Given the description of an element on the screen output the (x, y) to click on. 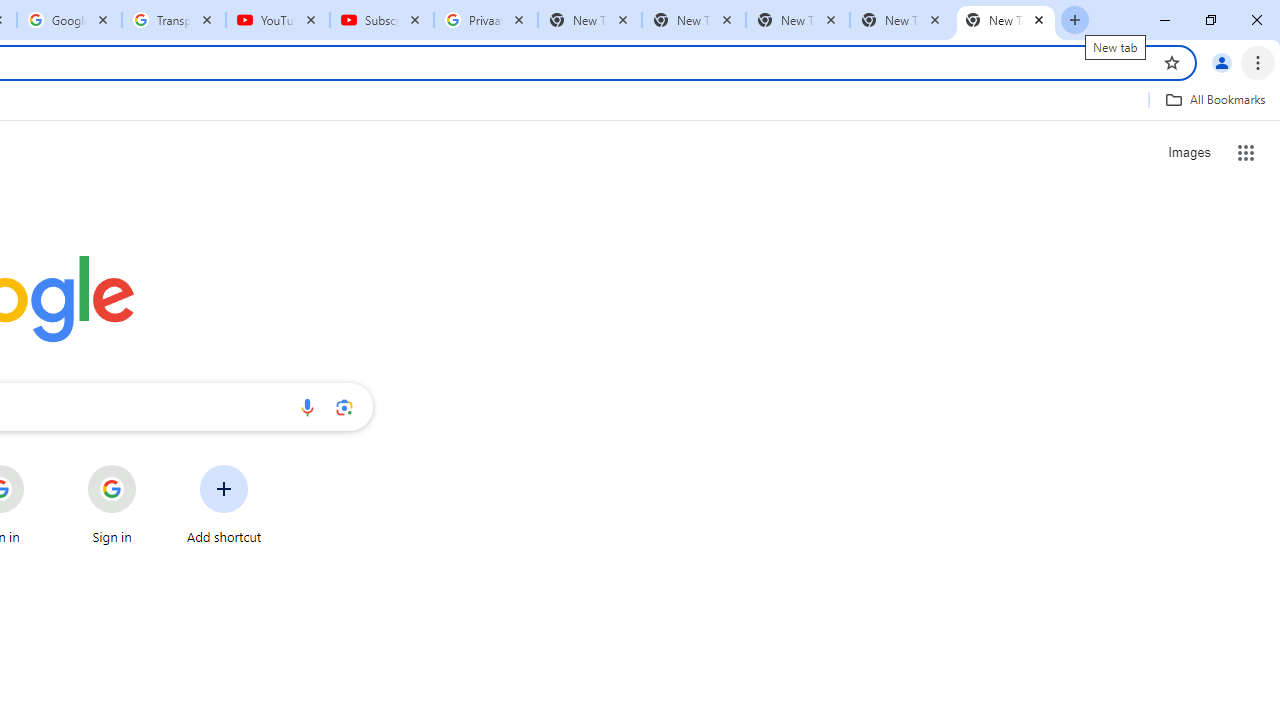
Subscriptions - YouTube (381, 20)
YouTube (278, 20)
More actions for Sign in shortcut (152, 466)
